Given the description of an element on the screen output the (x, y) to click on. 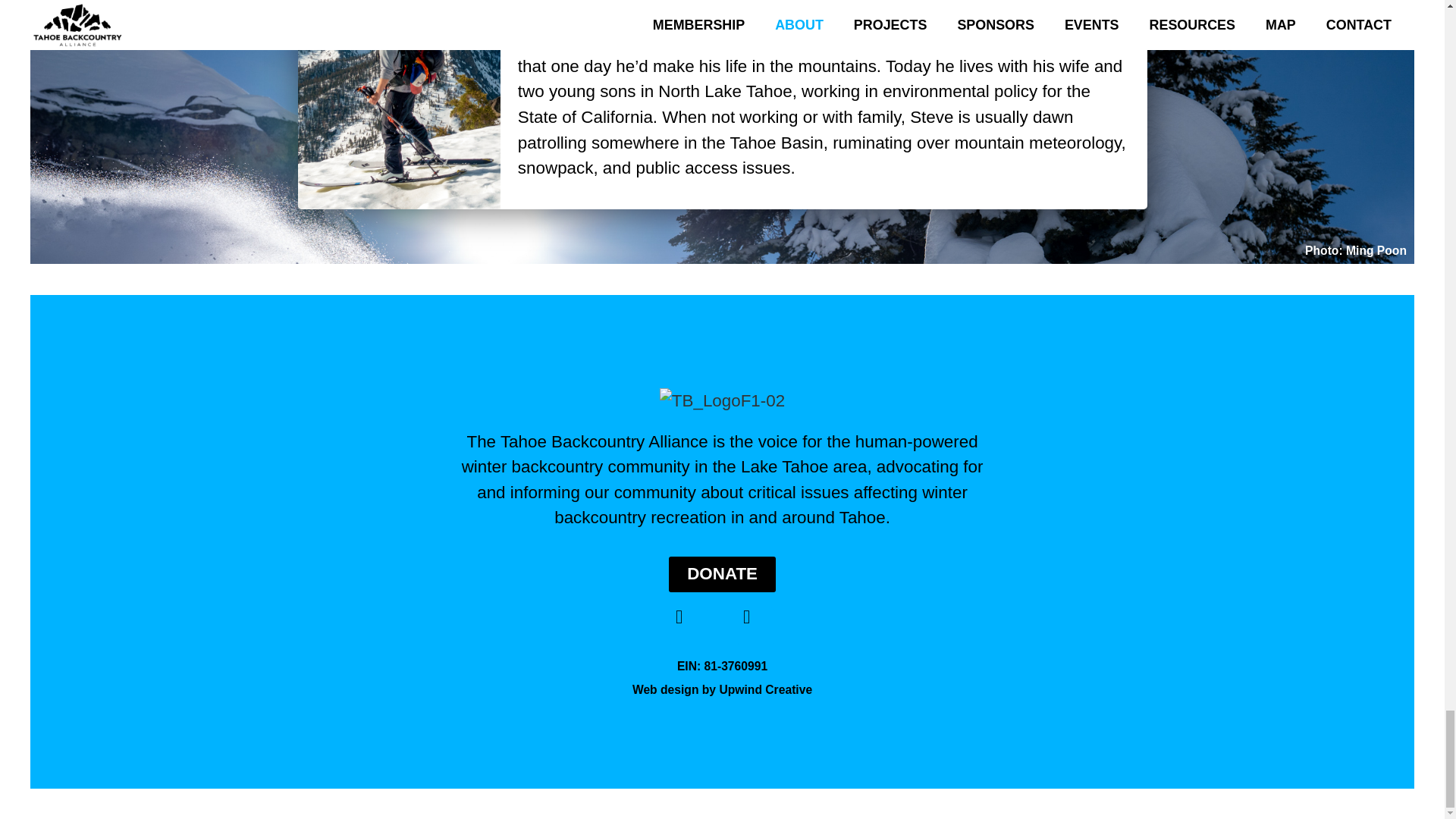
Upwind Creative (765, 689)
DONATE (722, 573)
